Given the description of an element on the screen output the (x, y) to click on. 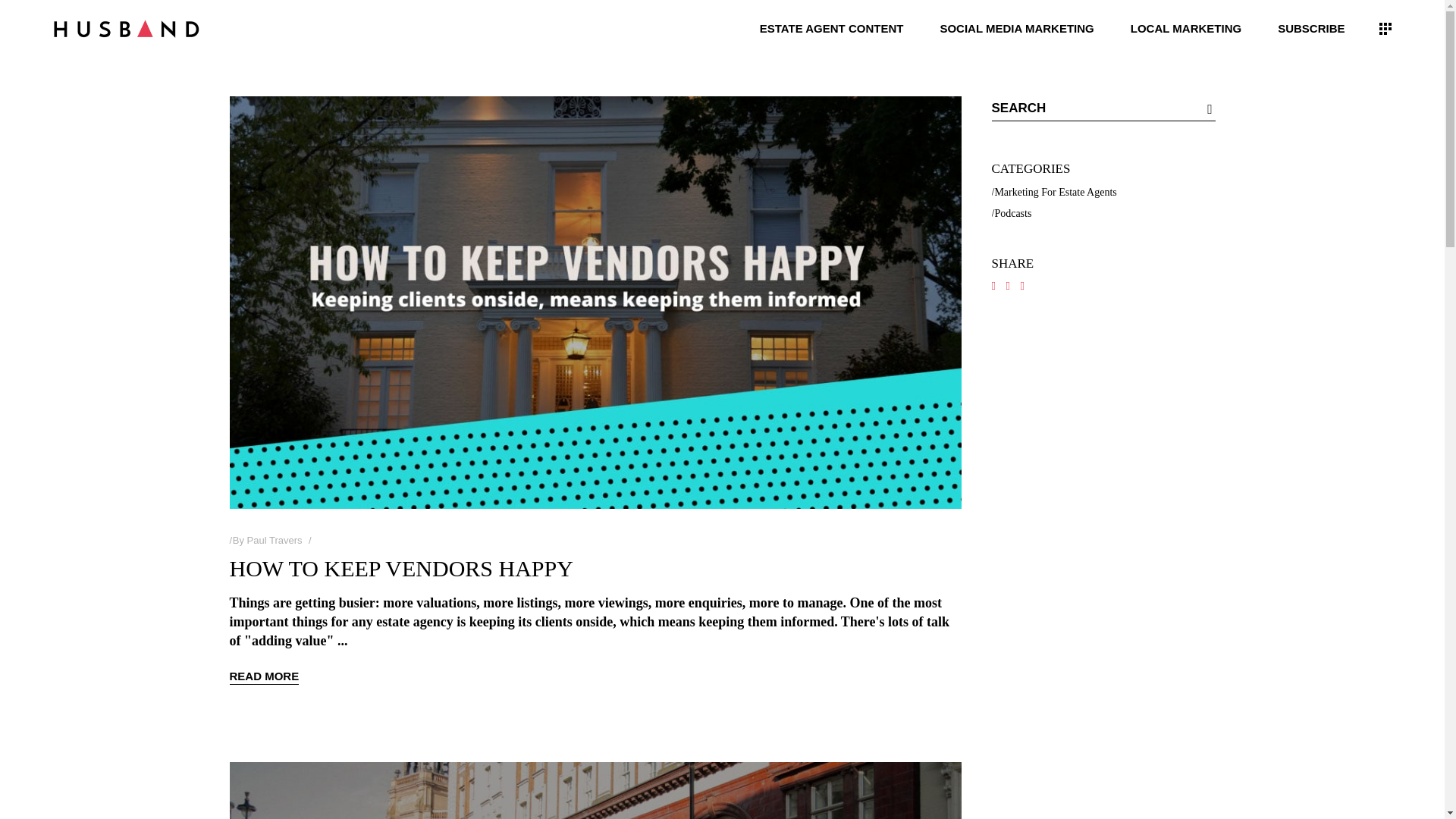
Search for: (1091, 108)
HOW TO KEEP VENDORS HAPPY (400, 568)
LOCAL MARKETING (1185, 27)
Paul Travers (274, 540)
How to keep vendors happy (400, 568)
HOW TO HANDLE RECESSION TALK (594, 790)
ESTATE AGENT CONTENT (831, 27)
SOCIAL MEDIA MARKETING (1016, 27)
SUBSCRIBE (1310, 27)
